Given the description of an element on the screen output the (x, y) to click on. 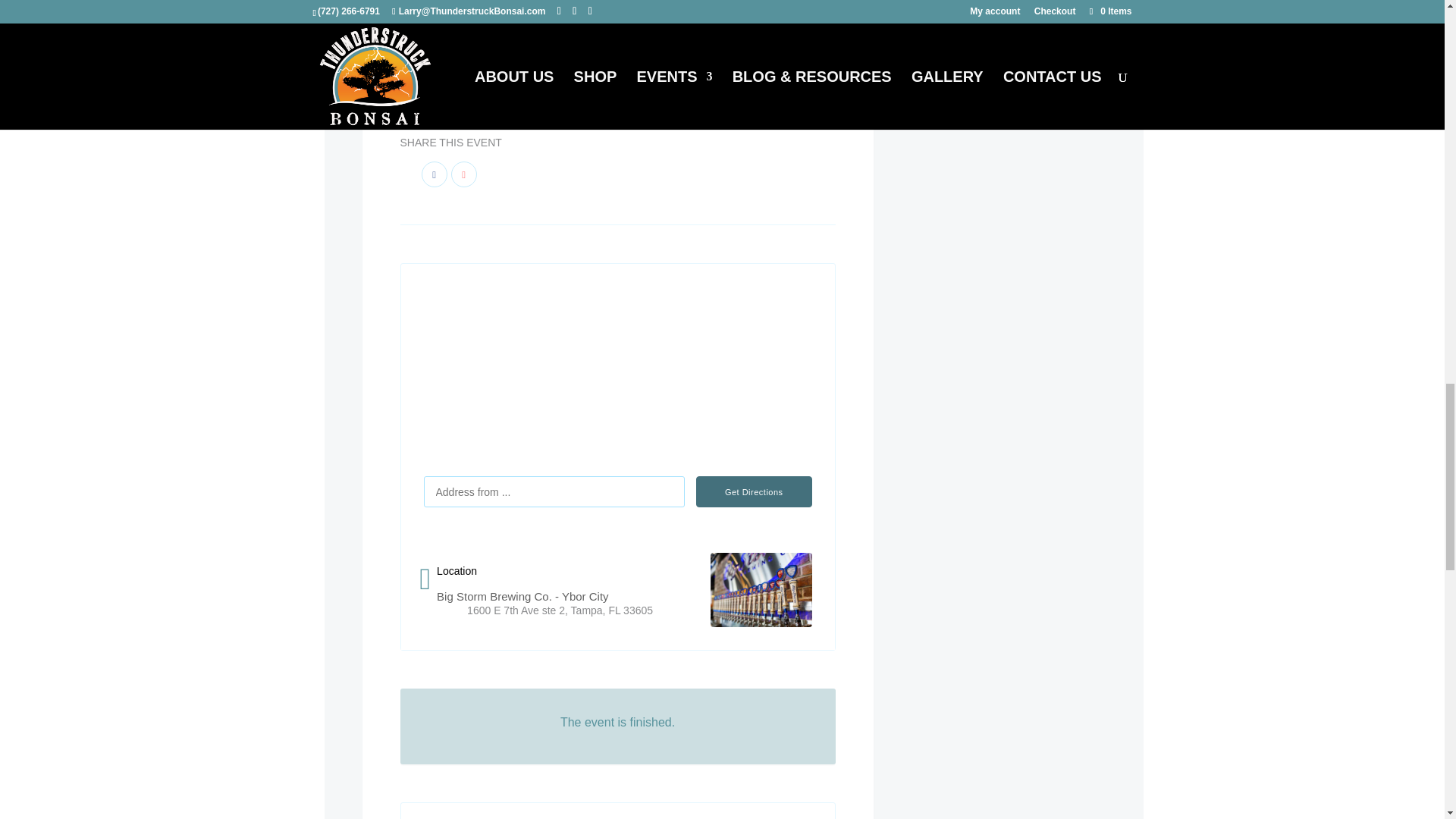
Email (464, 174)
Share on Facebook (434, 174)
Get Directions (753, 490)
